Given the description of an element on the screen output the (x, y) to click on. 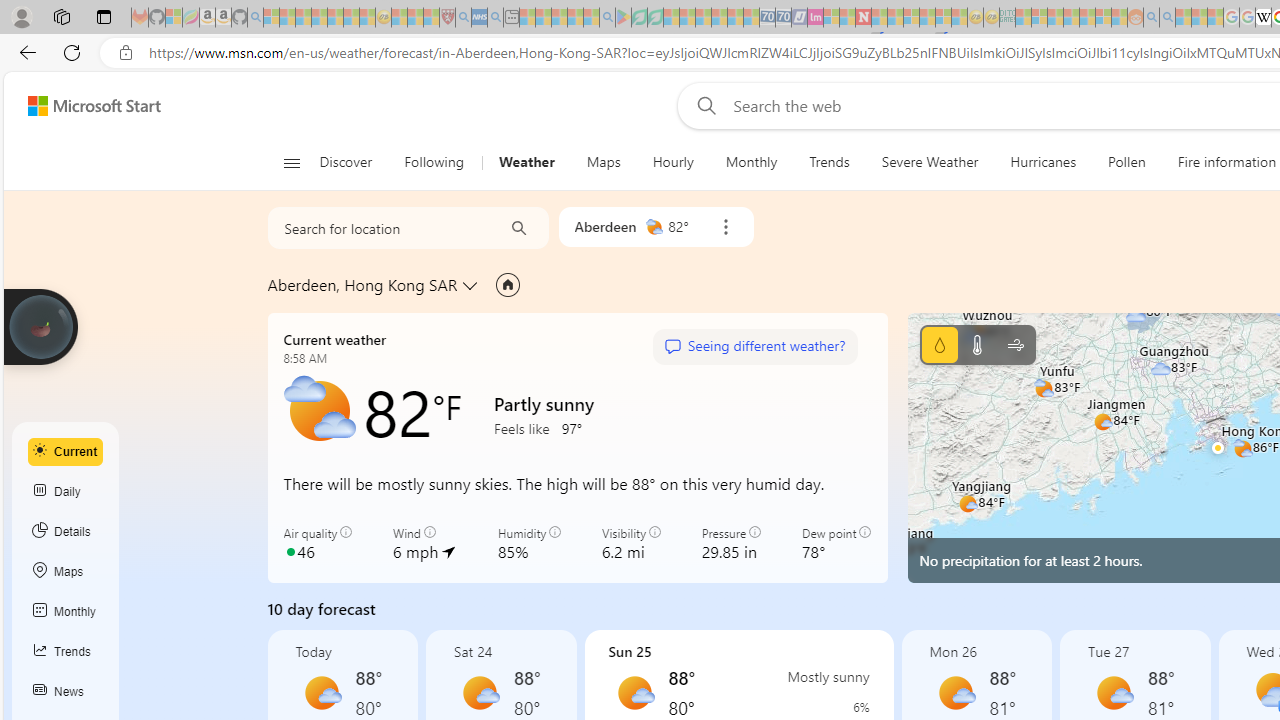
Temperature (976, 344)
Partly sunny (318, 411)
Trends (65, 651)
Fire information (1227, 162)
Severe Weather (929, 162)
Air quality 46 (317, 543)
Hurricanes (1043, 162)
Mostly sunny (1114, 692)
